Given the description of an element on the screen output the (x, y) to click on. 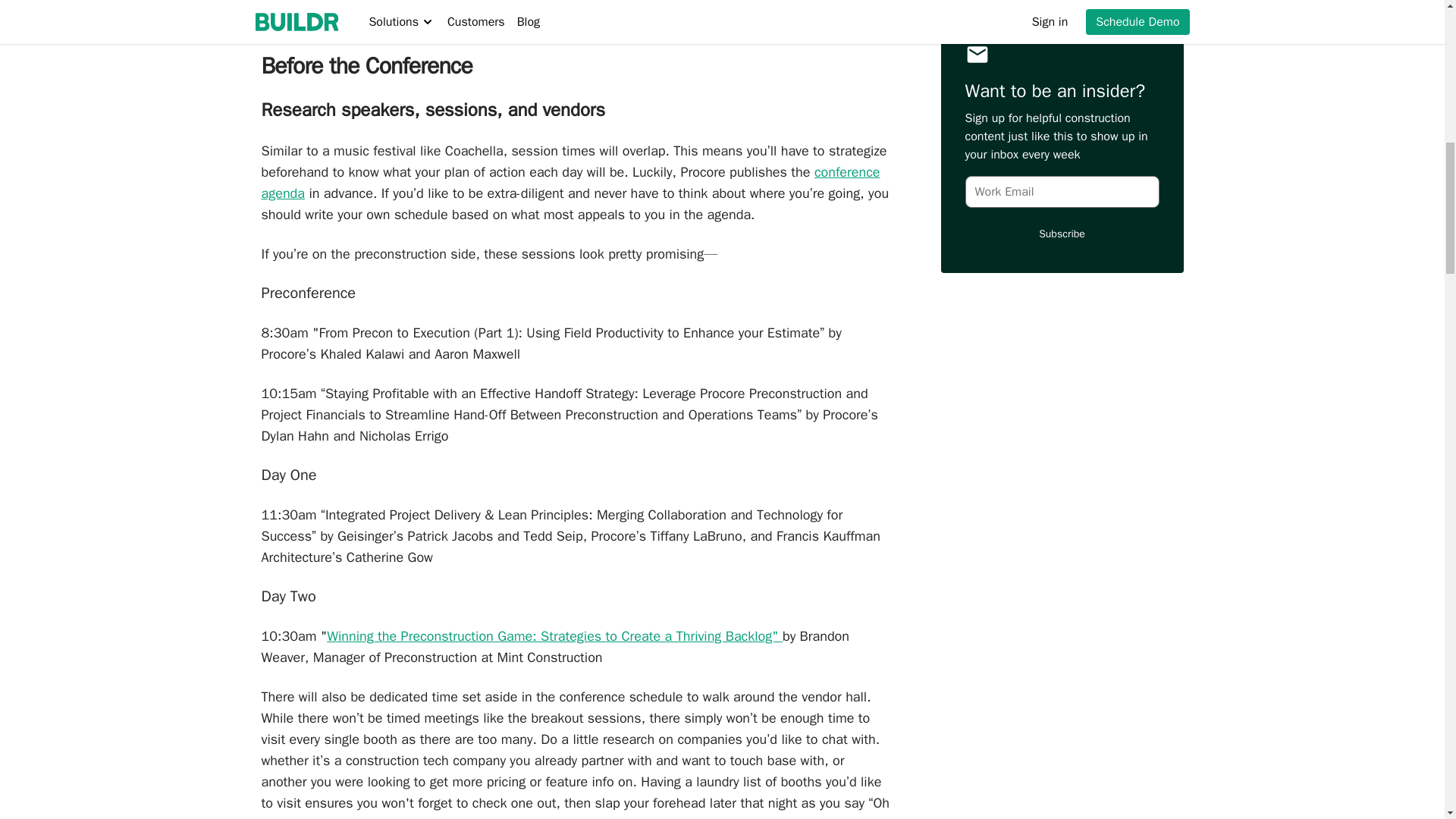
conference agenda (569, 182)
